Given the description of an element on the screen output the (x, y) to click on. 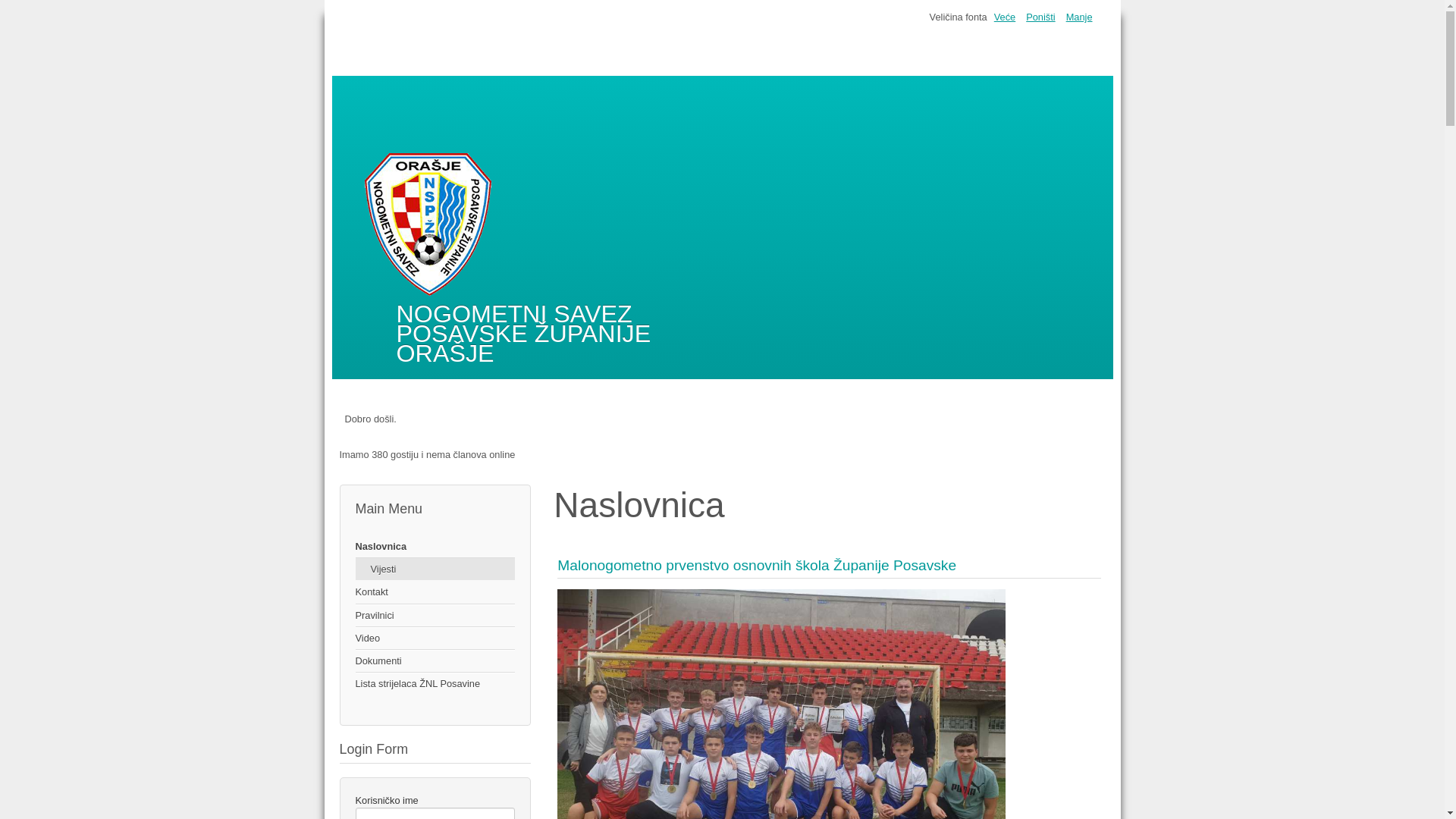
Video Element type: text (434, 638)
Dokumenti Element type: text (434, 660)
Vijesti Element type: text (434, 569)
Kontakt Element type: text (434, 591)
Manje Element type: text (1079, 16)
Naslovnica Element type: text (434, 546)
Pravilnici Element type: text (434, 615)
